Given the description of an element on the screen output the (x, y) to click on. 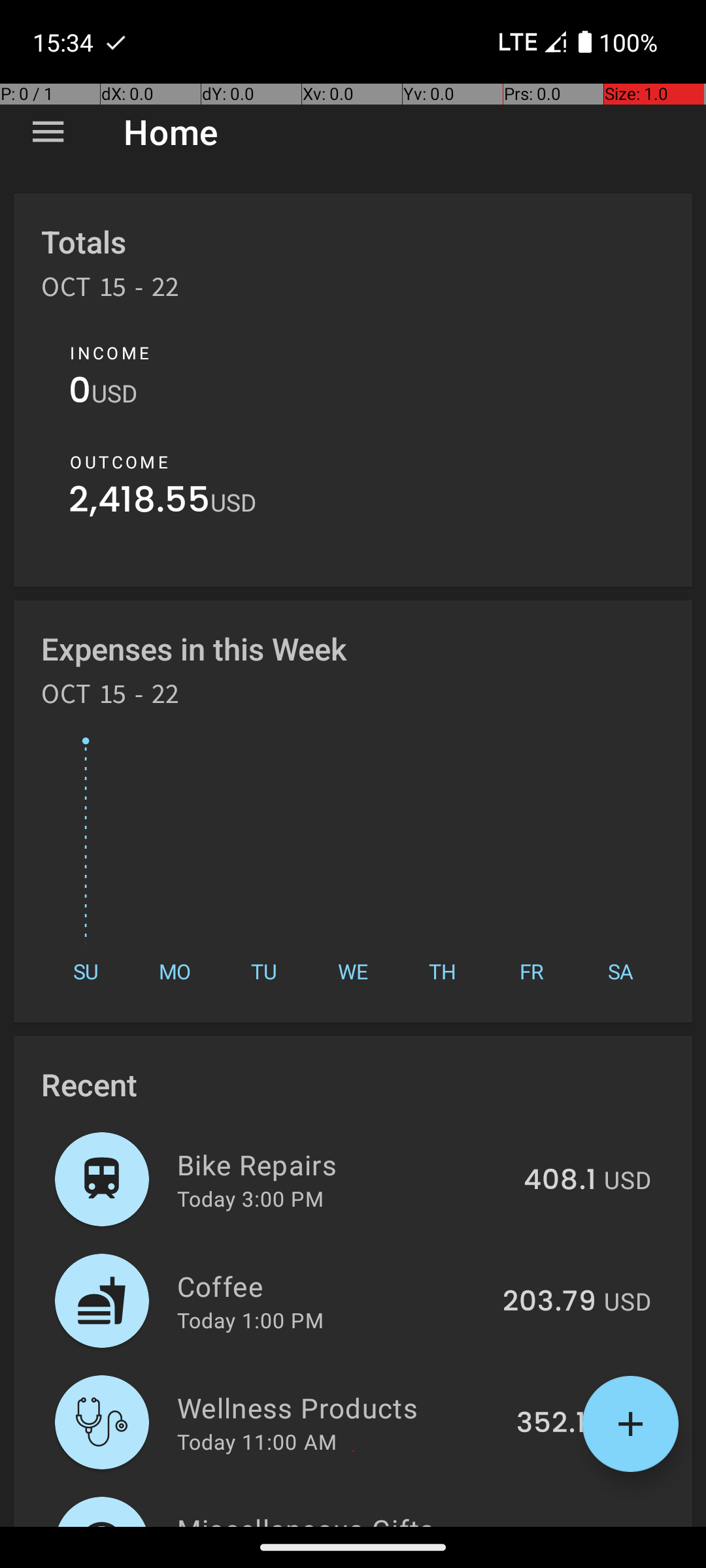
2,418.55 Element type: android.widget.TextView (139, 502)
Bike Repairs Element type: android.widget.TextView (342, 1164)
Today 3:00 PM Element type: android.widget.TextView (250, 1198)
408.1 Element type: android.widget.TextView (559, 1180)
Coffee Element type: android.widget.TextView (332, 1285)
Today 1:00 PM Element type: android.widget.TextView (250, 1320)
203.79 Element type: android.widget.TextView (549, 1301)
Wellness Products Element type: android.widget.TextView (339, 1407)
Today 11:00 AM Element type: android.widget.TextView (256, 1441)
352.11 Element type: android.widget.TextView (555, 1423)
Miscellaneous Gifts Element type: android.widget.TextView (343, 1518)
71.59 Element type: android.widget.TextView (560, 1524)
